Given the description of an element on the screen output the (x, y) to click on. 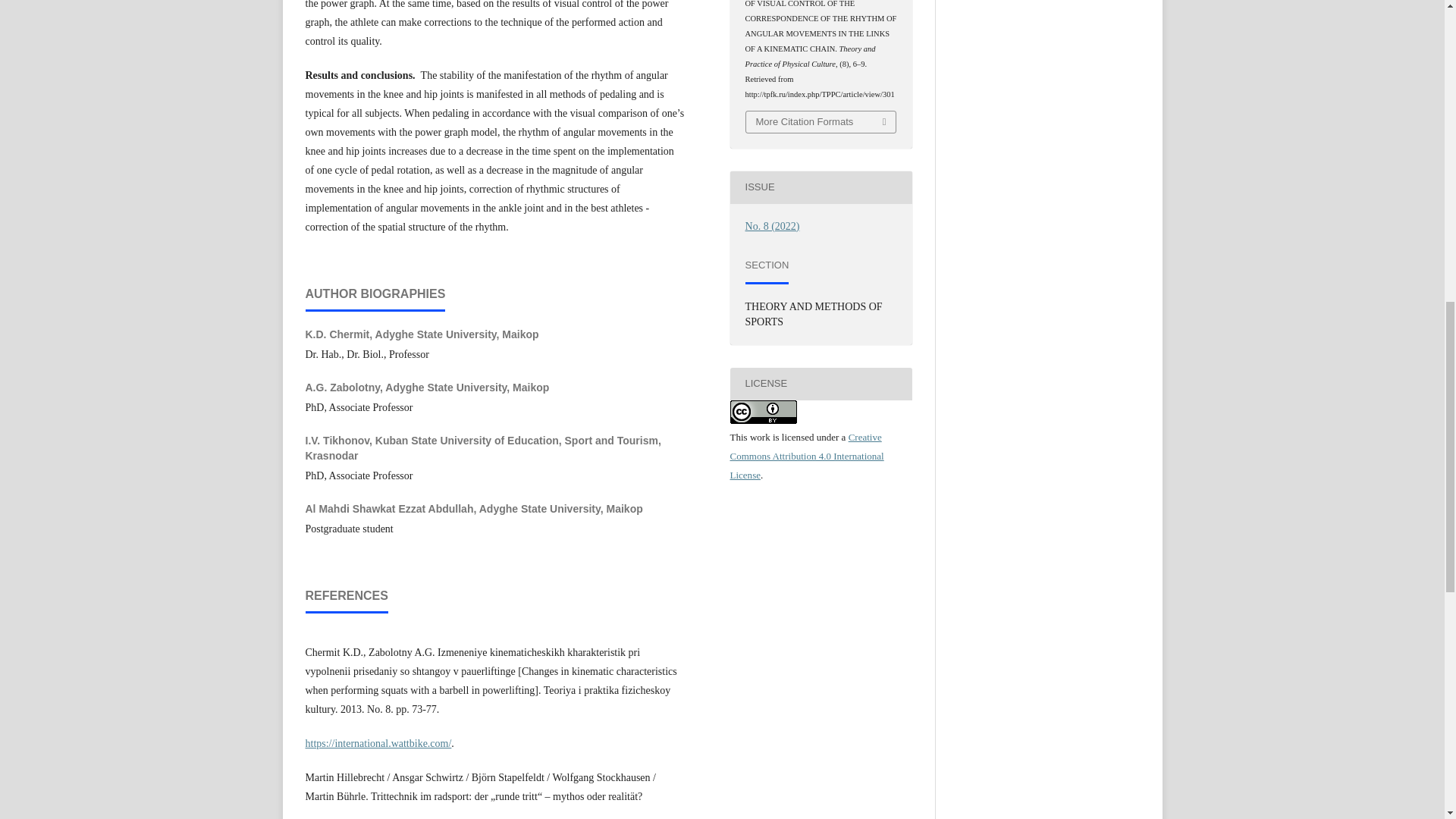
Creative Commons Attribution 4.0 International License (806, 455)
More Citation Formats (820, 121)
